Given the description of an element on the screen output the (x, y) to click on. 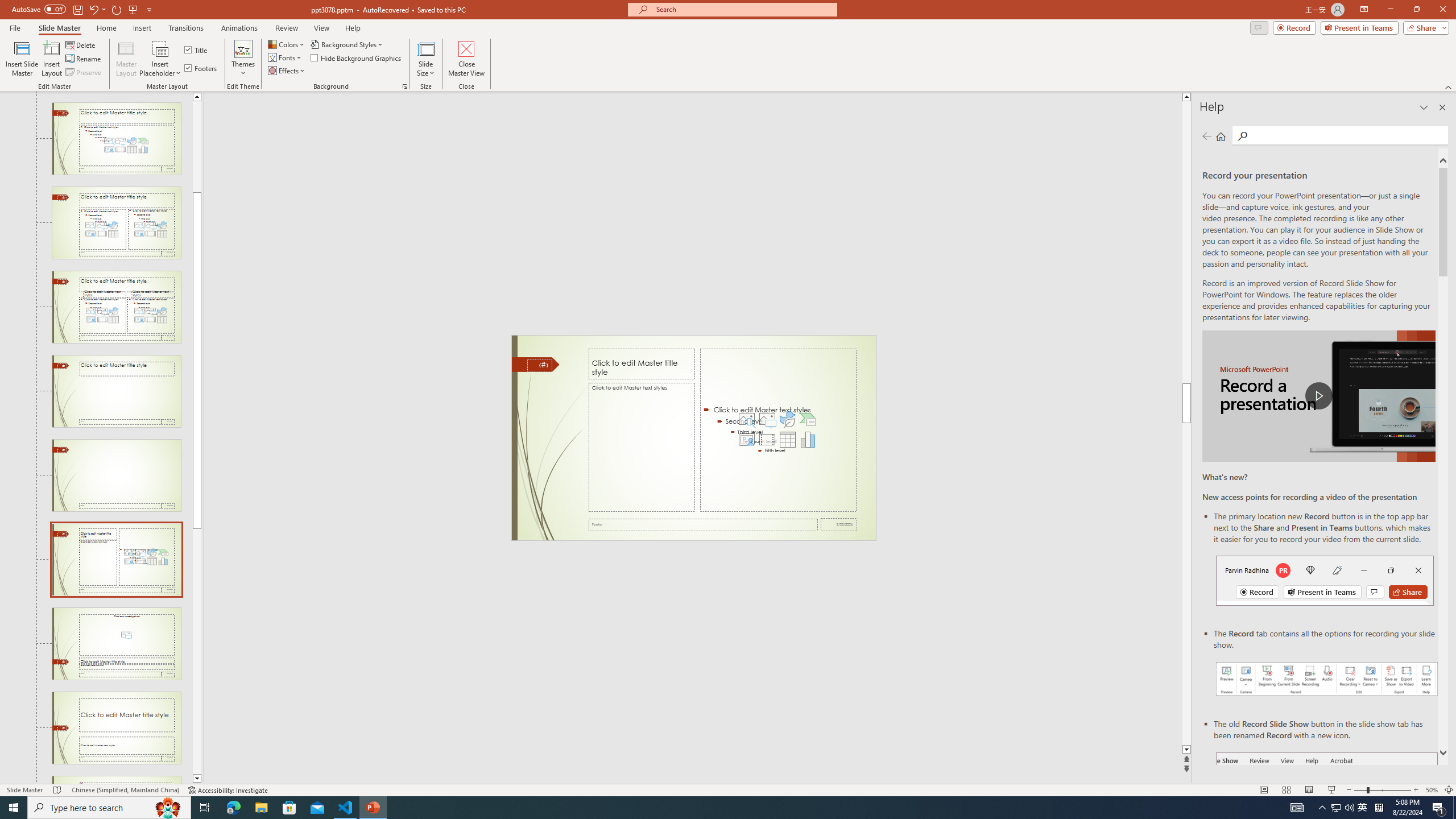
Effects (287, 69)
Stock Images (746, 419)
Zoom 50% (1431, 790)
Footers (201, 67)
Insert Layout (51, 58)
Title (196, 49)
TextBox (641, 446)
